Given the description of an element on the screen output the (x, y) to click on. 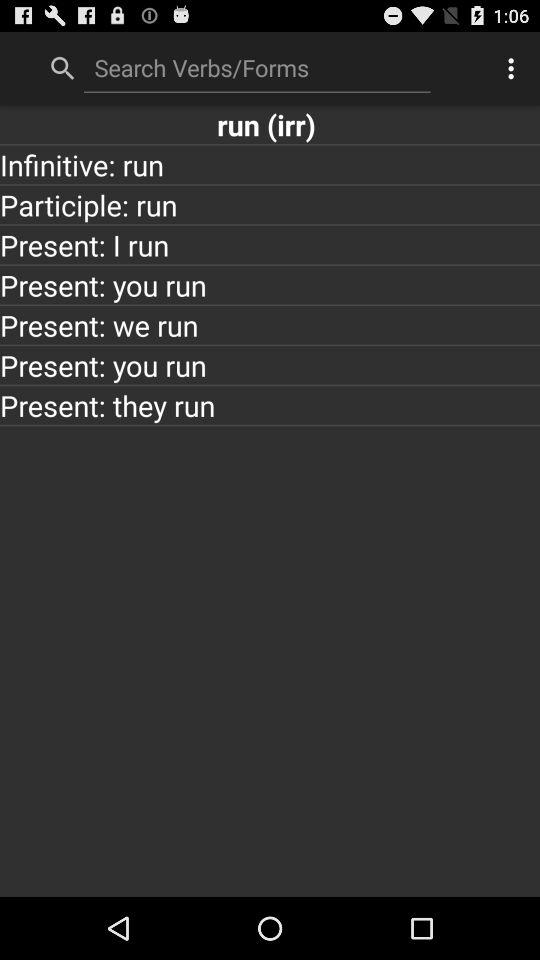
search verbs/forms (257, 67)
